Given the description of an element on the screen output the (x, y) to click on. 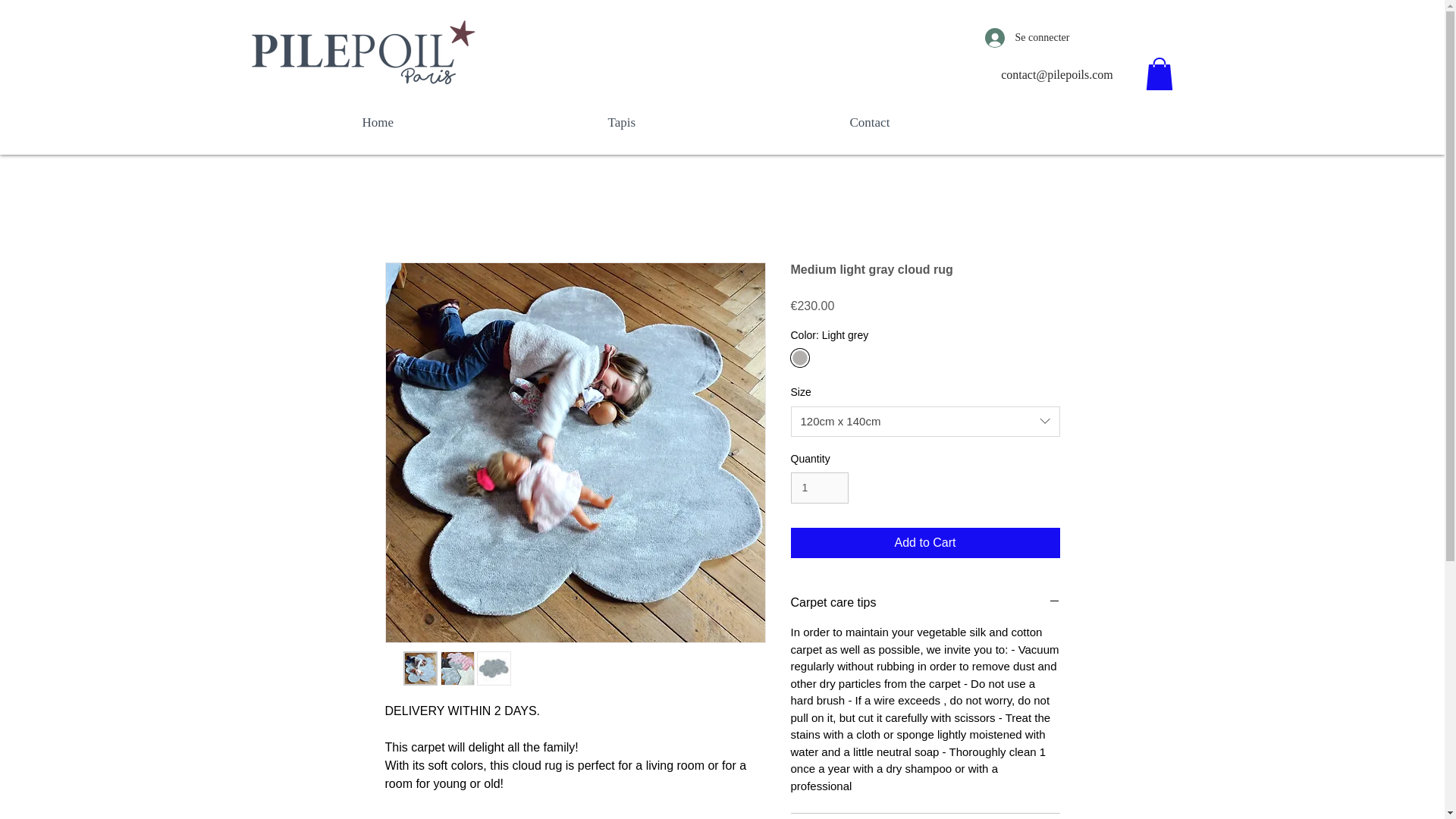
Home (472, 122)
Tapis (716, 122)
1 (818, 487)
120cm x 140cm (924, 421)
Carpet care tips (924, 602)
Contact (966, 122)
Add to Cart (924, 542)
Se connecter (1027, 37)
